Given the description of an element on the screen output the (x, y) to click on. 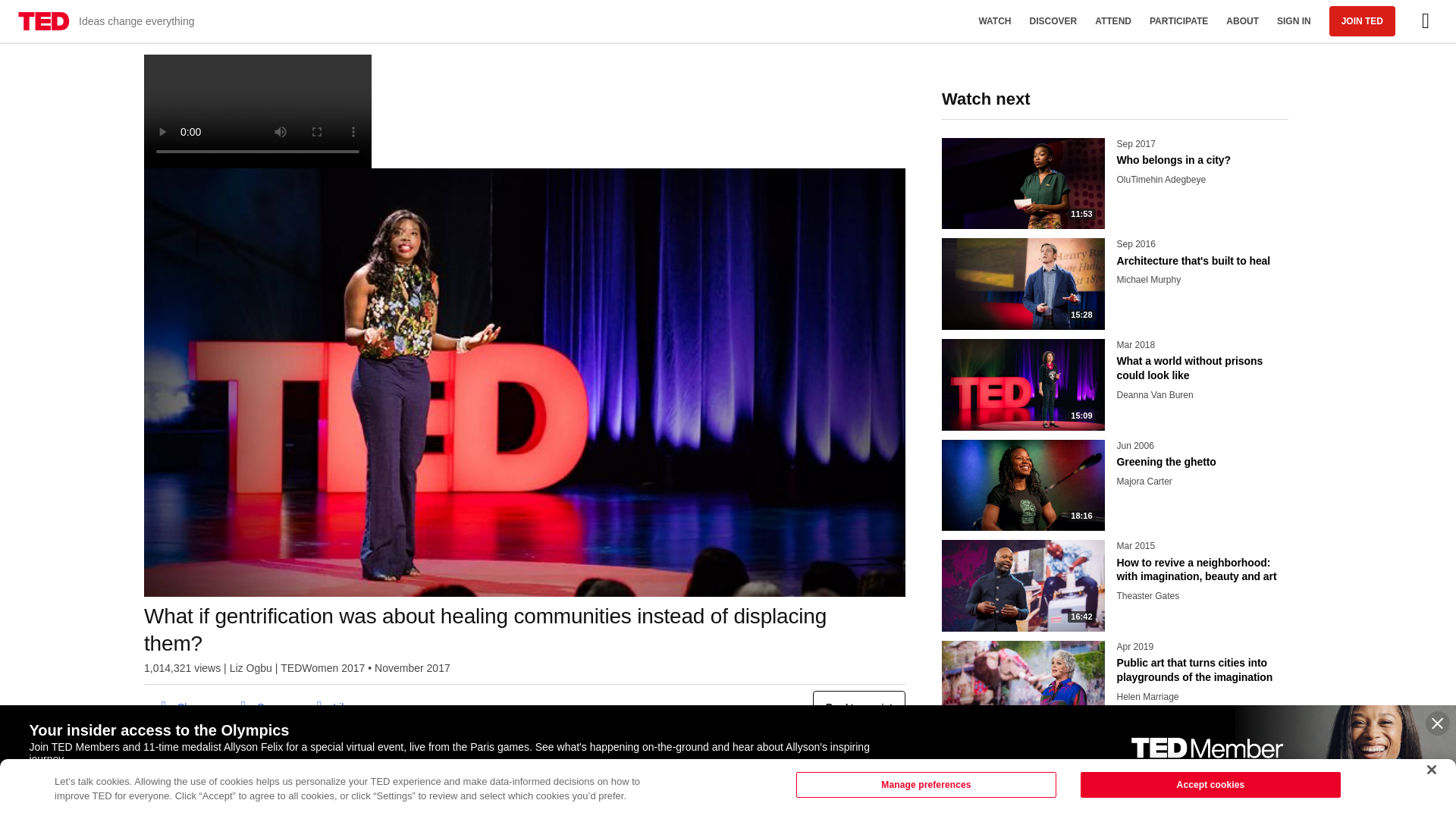
WATCH (994, 21)
Watch next (1115, 109)
Save (259, 707)
ATTEND (1113, 21)
Ideas change everything (106, 21)
Share (254, 707)
Read transcript (180, 707)
SIGN IN (858, 707)
Like (1294, 21)
ABOUT (332, 707)
PARTICIPATE (1242, 21)
JOIN TED (1178, 21)
DISCOVER (1361, 20)
